Given the description of an element on the screen output the (x, y) to click on. 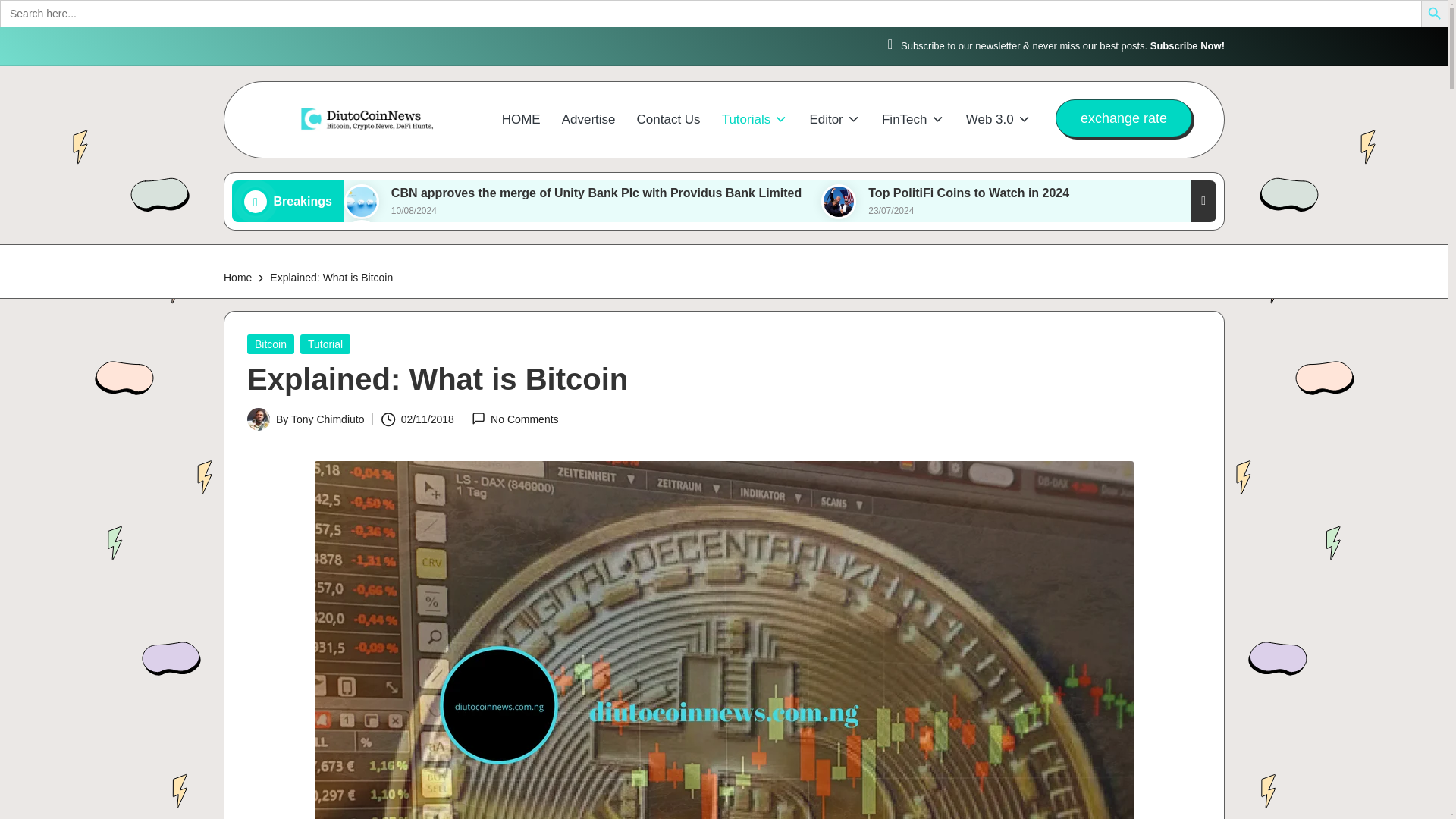
Contact Us (668, 119)
HOME (521, 119)
Subscribe Now! (1187, 46)
Tutorials (755, 119)
View all posts by Tony Chimdiuto (328, 419)
Advertise (588, 119)
